Given the description of an element on the screen output the (x, y) to click on. 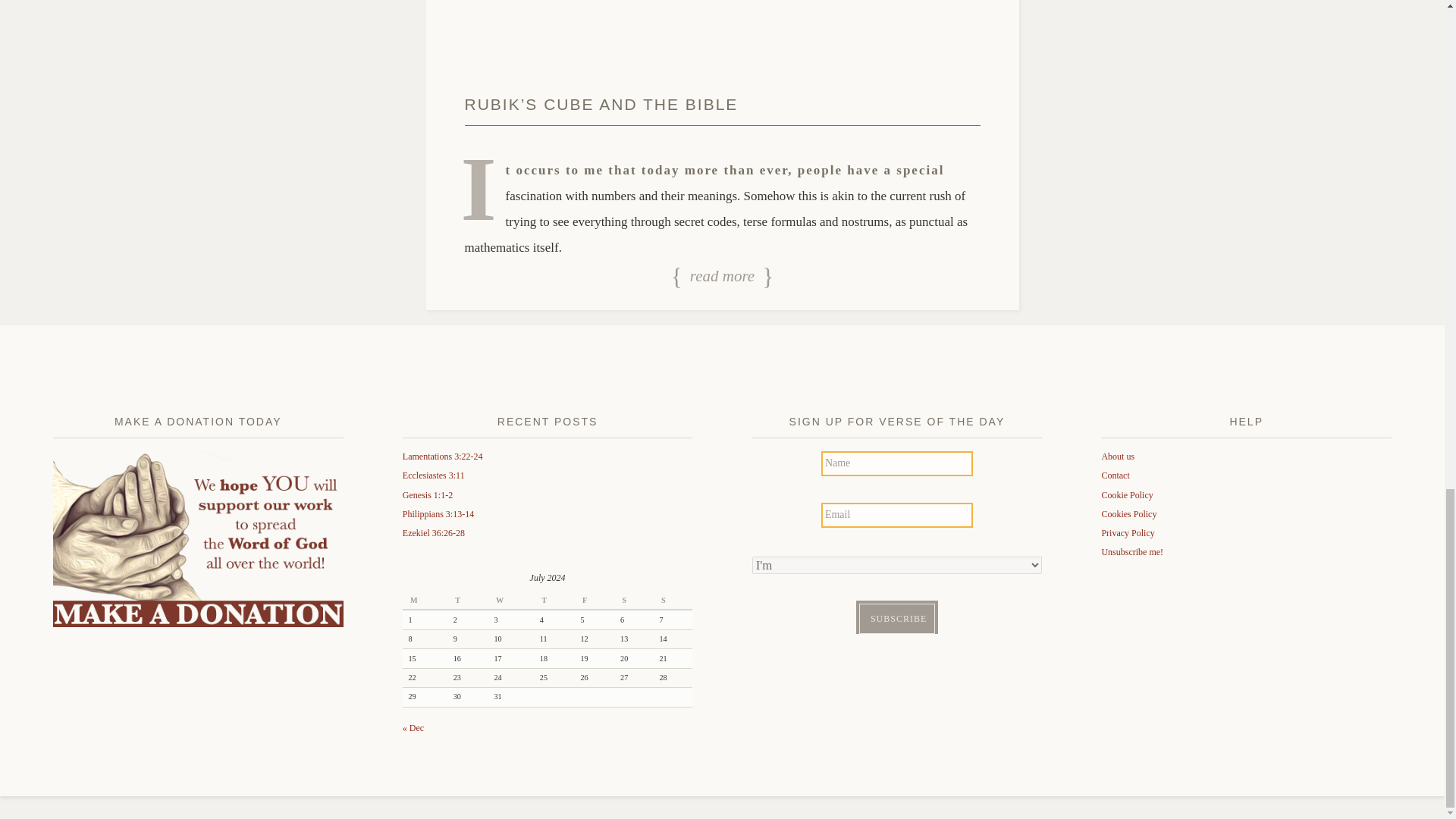
Unsubscribe me! (1131, 552)
Cookie Policy (1126, 494)
Monday (424, 601)
Genesis 1:1-2 (427, 494)
Saturday (633, 601)
Ecclesiastes 3:11 (433, 475)
Subscribe (896, 618)
About us (1117, 456)
Email (896, 514)
Cookies Policy (1128, 513)
Philippians 3:13-14 (438, 513)
Lamentations 3:22-24 (443, 456)
read more (721, 277)
Contact (1114, 475)
Sunday (673, 601)
